Given the description of an element on the screen output the (x, y) to click on. 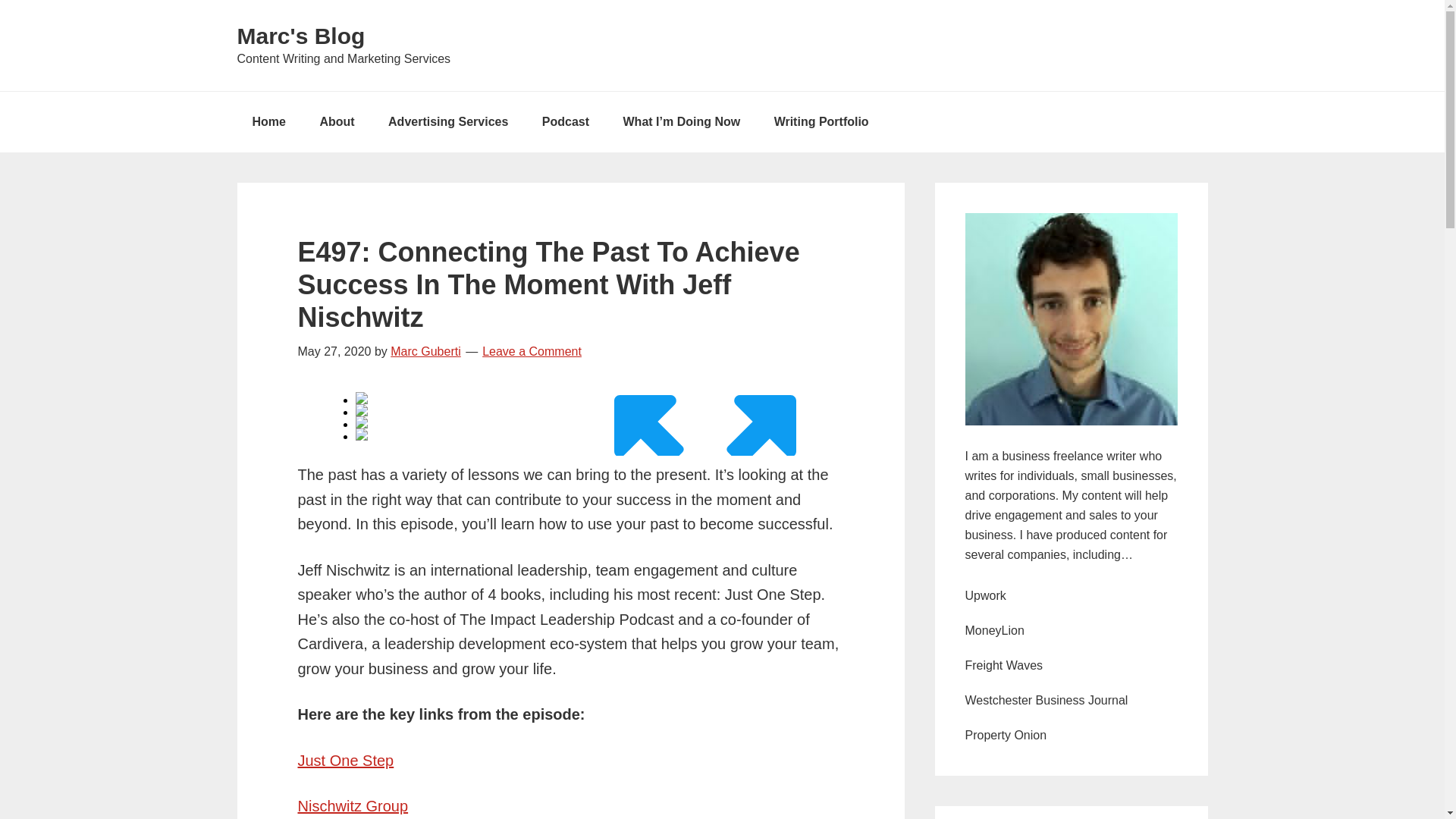
Just One Step (345, 760)
Leave a Comment (530, 350)
About (336, 121)
Marc Guberti (425, 350)
Advertising Services (447, 121)
Marc's Blog (300, 35)
Writing Portfolio (820, 121)
Home (267, 121)
Podcast (565, 121)
